Given the description of an element on the screen output the (x, y) to click on. 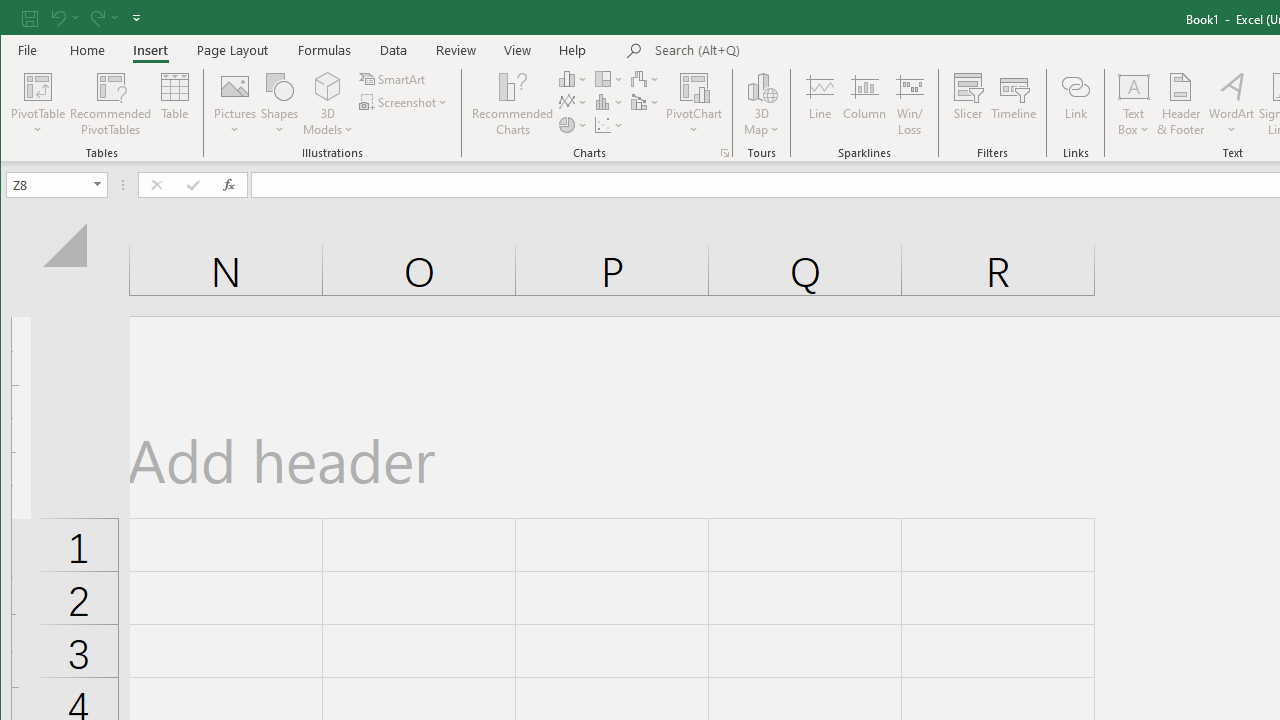
Insert Scatter (X, Y) or Bubble Chart (609, 124)
WordArt (1231, 104)
Slicer... (968, 104)
PivotChart (694, 86)
3D Models (327, 104)
Header & Footer... (1180, 104)
